Given the description of an element on the screen output the (x, y) to click on. 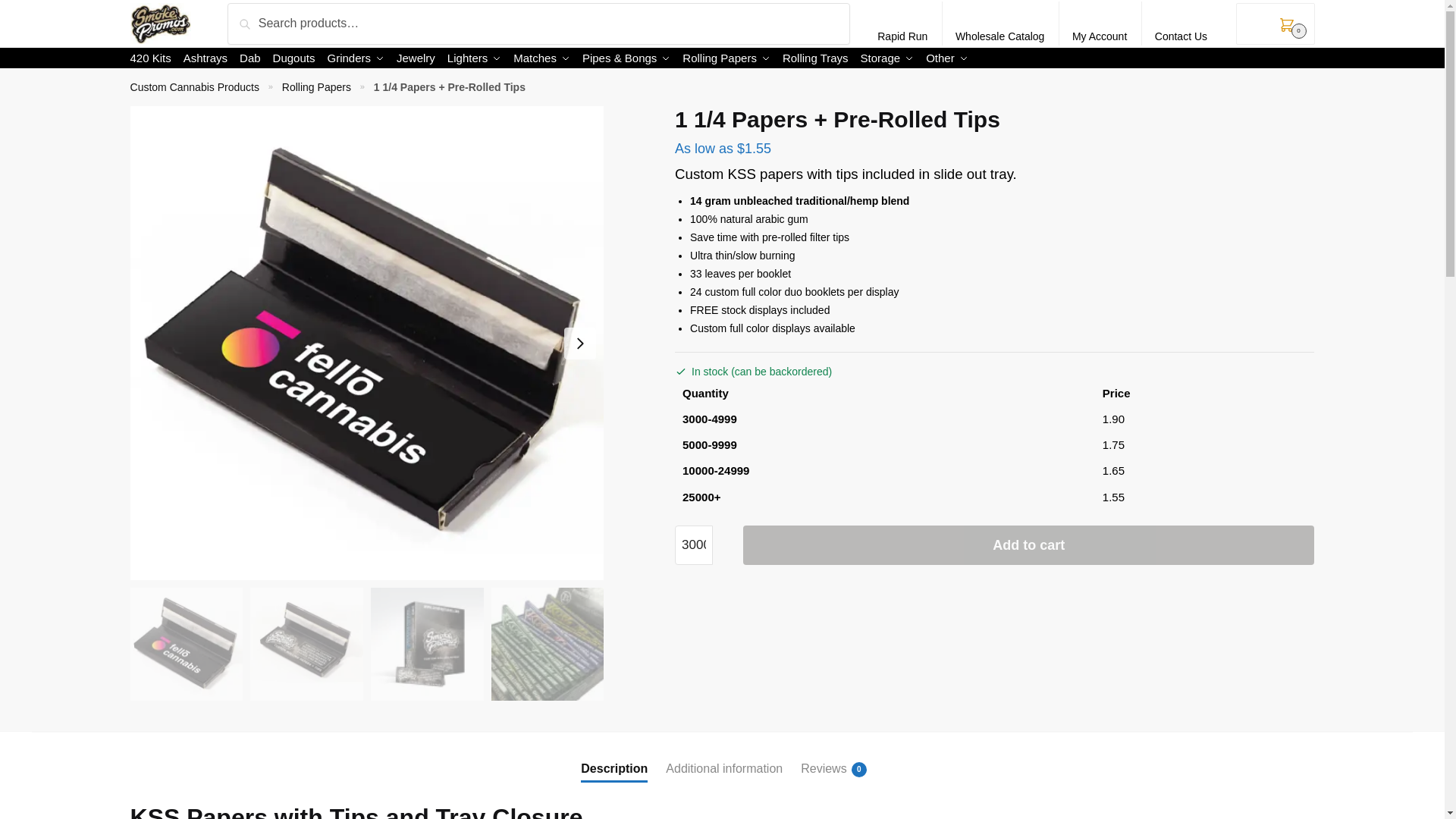
Lighters (473, 58)
Wholesale Catalog (1000, 23)
My Account (1099, 23)
Contact Us (1181, 23)
Rapid Run (902, 23)
My Account (1099, 23)
Custom Ashtrays (204, 58)
Dugouts (293, 58)
Dab (250, 58)
View your shopping cart (1275, 24)
